Given the description of an element on the screen output the (x, y) to click on. 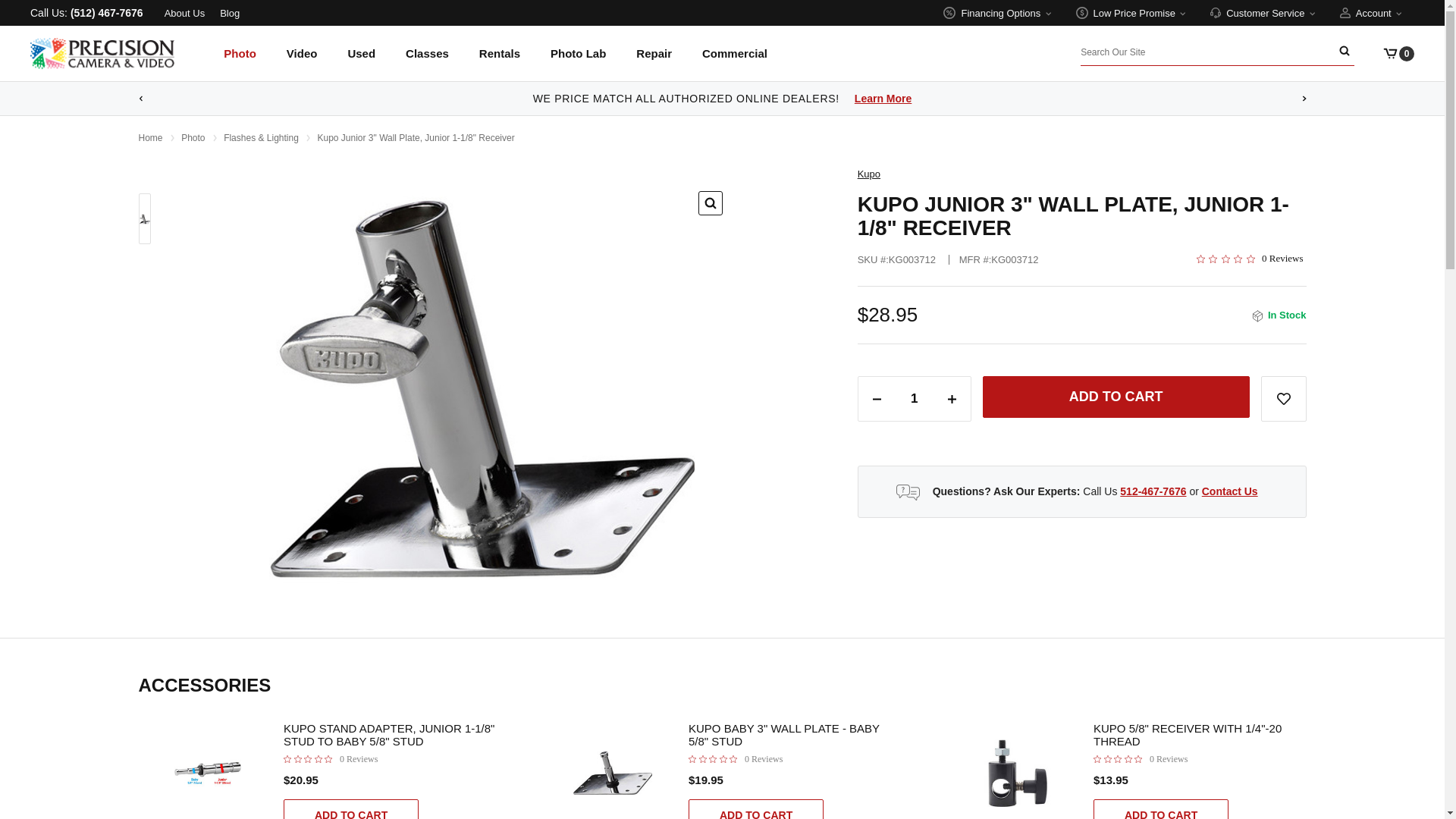
Customer Service (1262, 12)
Photo (240, 63)
0 Reviews (330, 758)
PayPal (1115, 439)
0 Reviews (1251, 258)
Add to Cart (1115, 396)
Low Price Promise (1130, 12)
About Us (184, 12)
Video (301, 63)
Account (1370, 12)
